Given the description of an element on the screen output the (x, y) to click on. 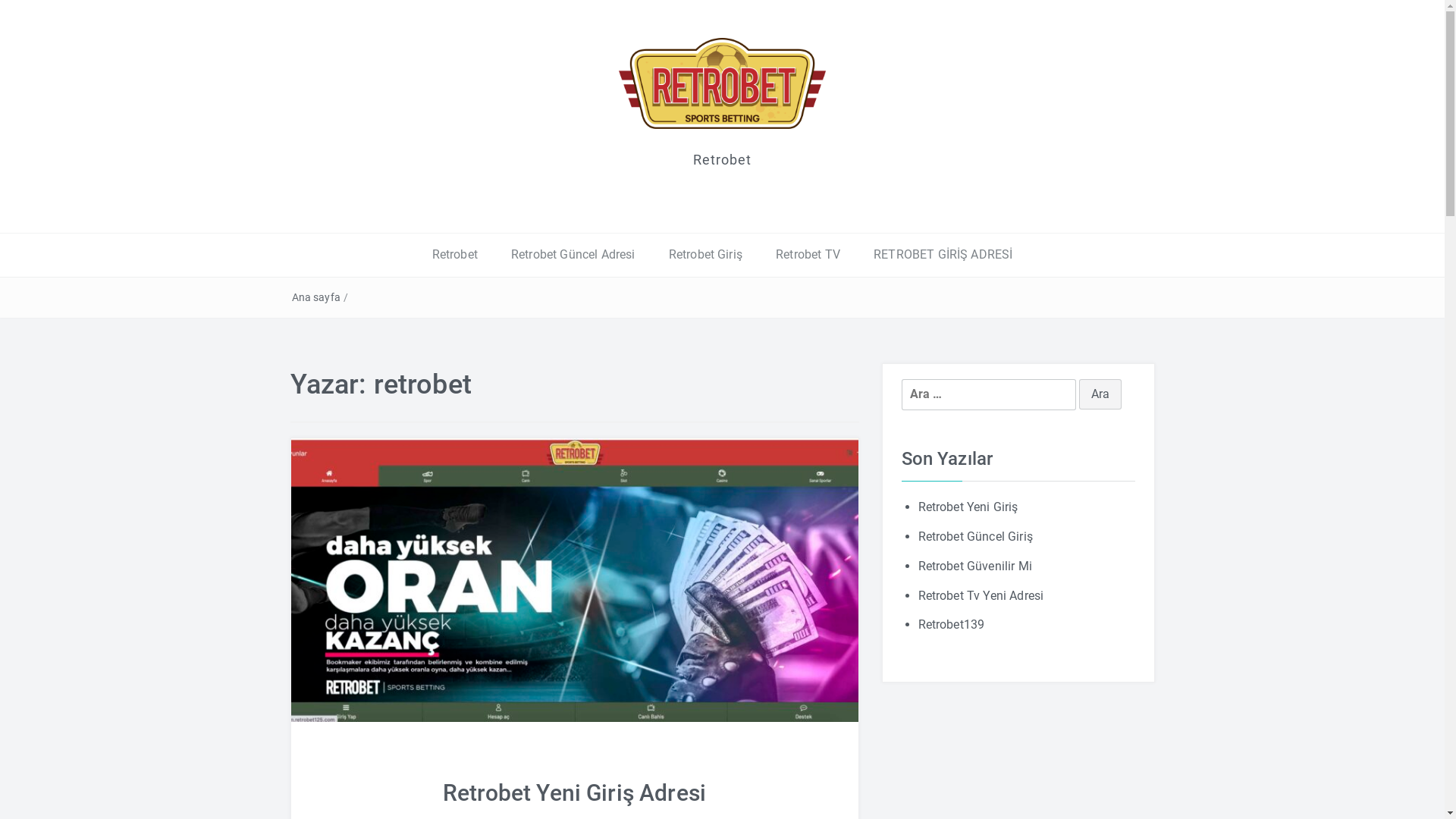
Retrobet Element type: text (454, 254)
Retrobet TV Element type: text (807, 254)
Retrobet139 Element type: text (950, 624)
Retrobet Tv Yeni Adresi Element type: text (980, 595)
Ana sayfa Element type: text (315, 297)
Ara Element type: text (1100, 394)
